Given the description of an element on the screen output the (x, y) to click on. 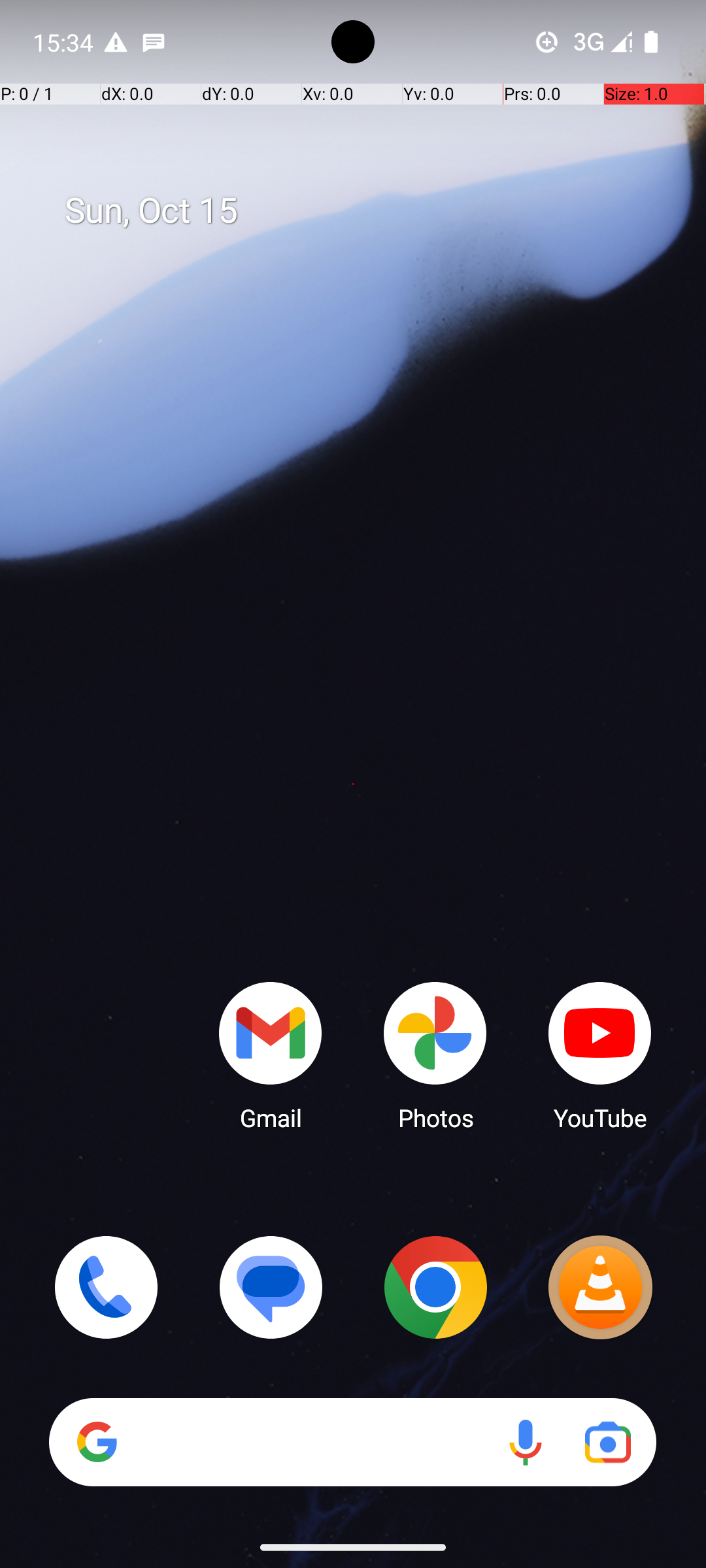
VLC Element type: android.widget.TextView (599, 1287)
